Given the description of an element on the screen output the (x, y) to click on. 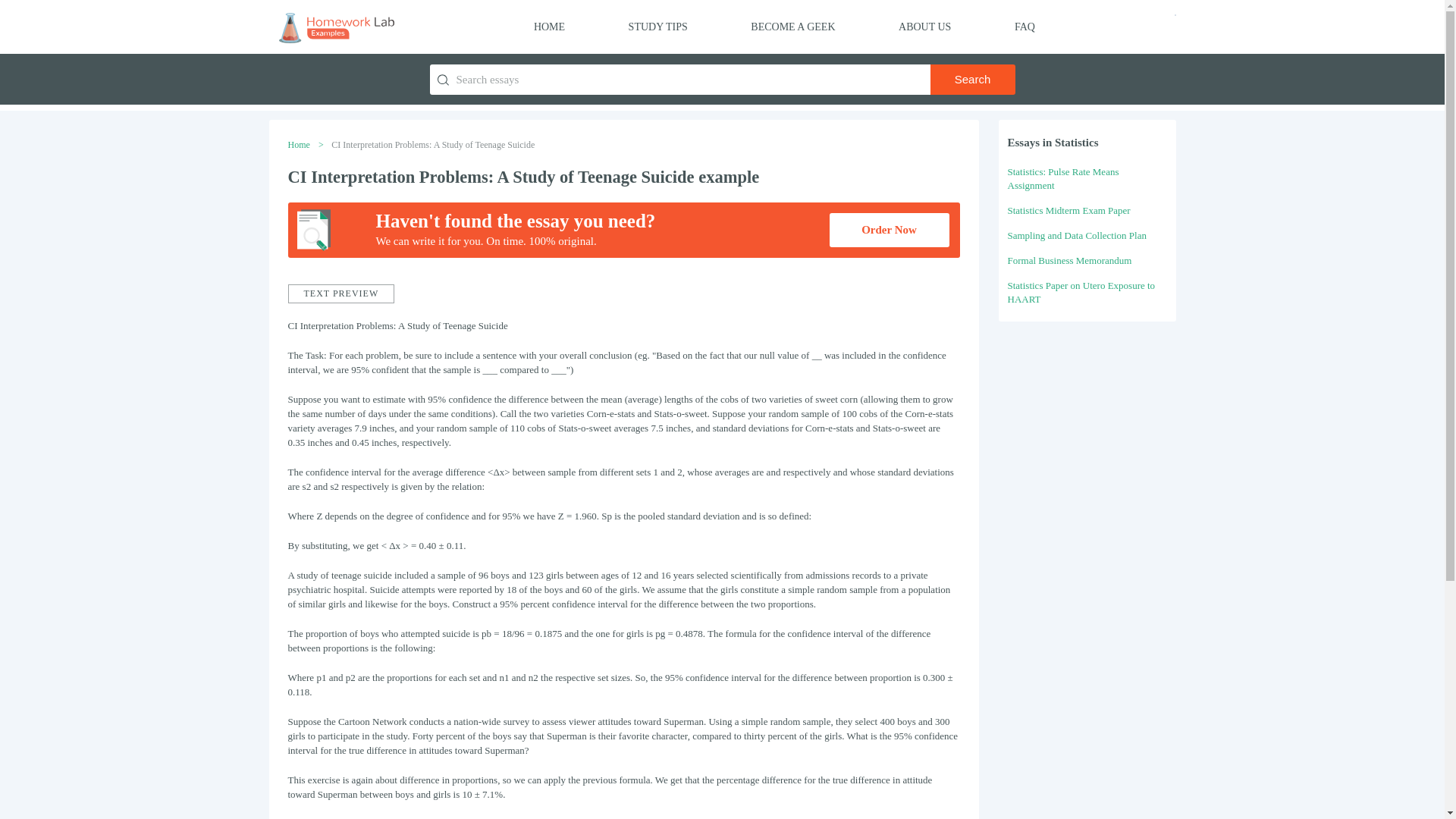
STUDY TIPS (657, 26)
Order Now (889, 229)
ABOUT US (924, 26)
Sampling and Data Collection Plan (1076, 235)
Formal Business Memorandum (1069, 260)
Statistics Paper on Utero Exposure to HAART (1080, 292)
HOME (549, 26)
FAQ (1024, 26)
BECOME A GEEK (792, 26)
Search (972, 79)
Statistics: Pulse Rate Means Assignment (1062, 178)
Home (299, 144)
Statistics Midterm Exam Paper (1068, 210)
